Given the description of an element on the screen output the (x, y) to click on. 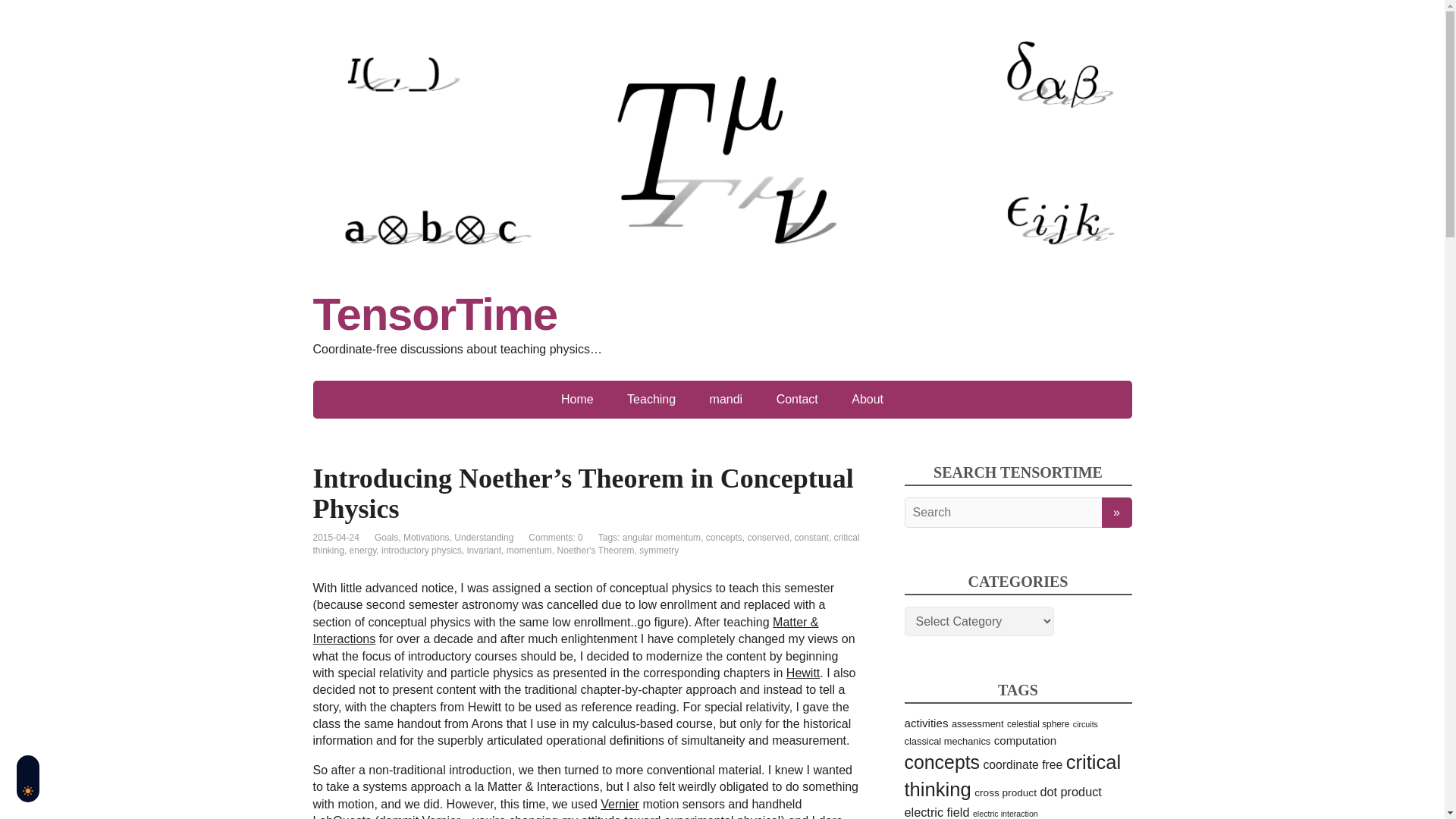
Contact (796, 399)
Home (577, 399)
invariant (483, 550)
introductory physics (421, 550)
Goals (385, 537)
Noether's Theorem (594, 550)
Conceptual Physics (802, 672)
critical thinking (586, 544)
energy (363, 550)
concepts (724, 537)
Vernier (619, 803)
angular momentum (661, 537)
Vernier  (619, 803)
constant (811, 537)
conserved (768, 537)
